Given the description of an element on the screen output the (x, y) to click on. 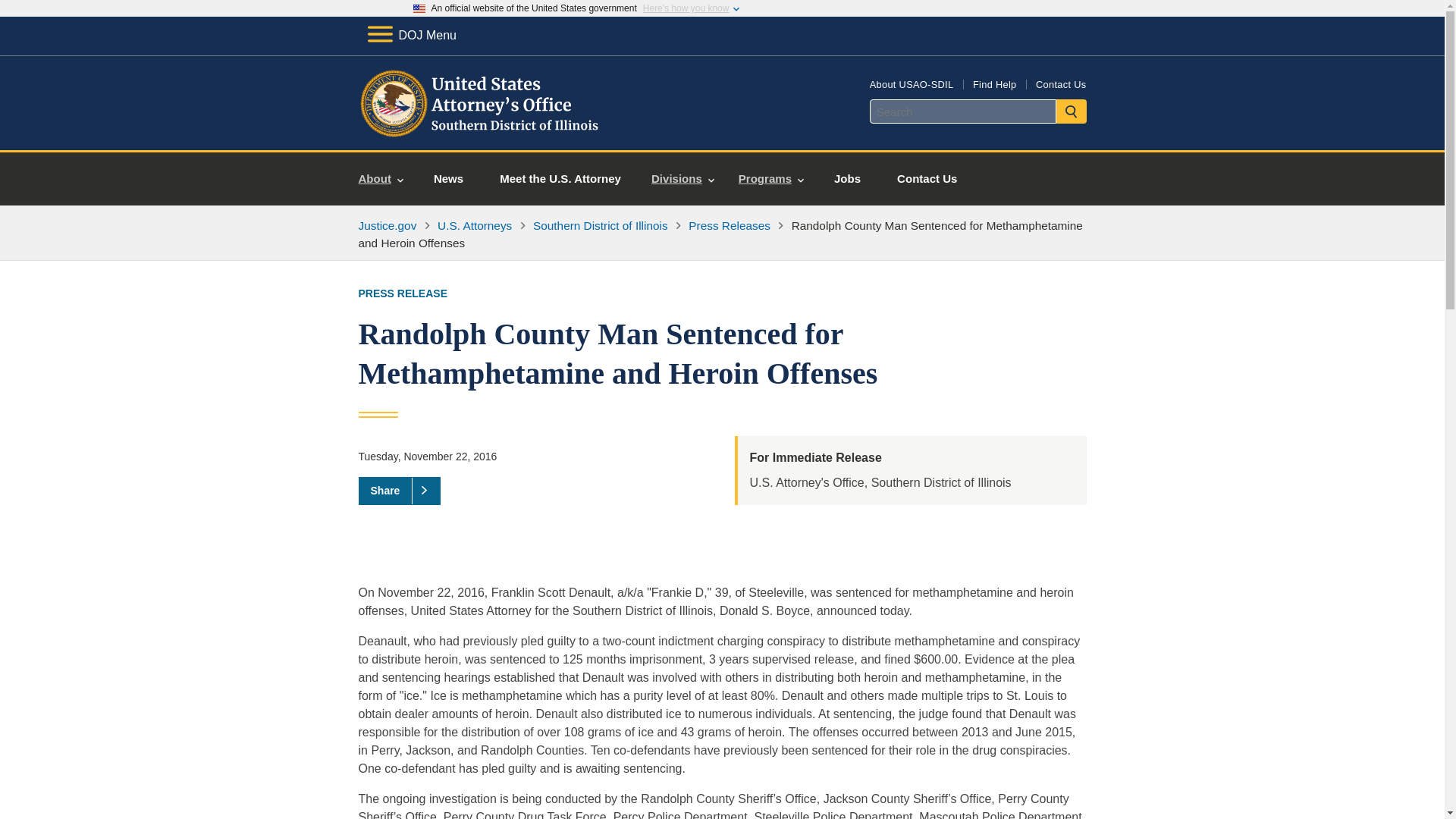
About (380, 179)
Southern District of Illinois (600, 225)
Divisions (682, 179)
Share (398, 490)
Programs (770, 179)
DOJ Menu (411, 35)
Jobs (847, 179)
U.S. Attorneys (475, 225)
News (447, 179)
Here's how you know (686, 8)
